Given the description of an element on the screen output the (x, y) to click on. 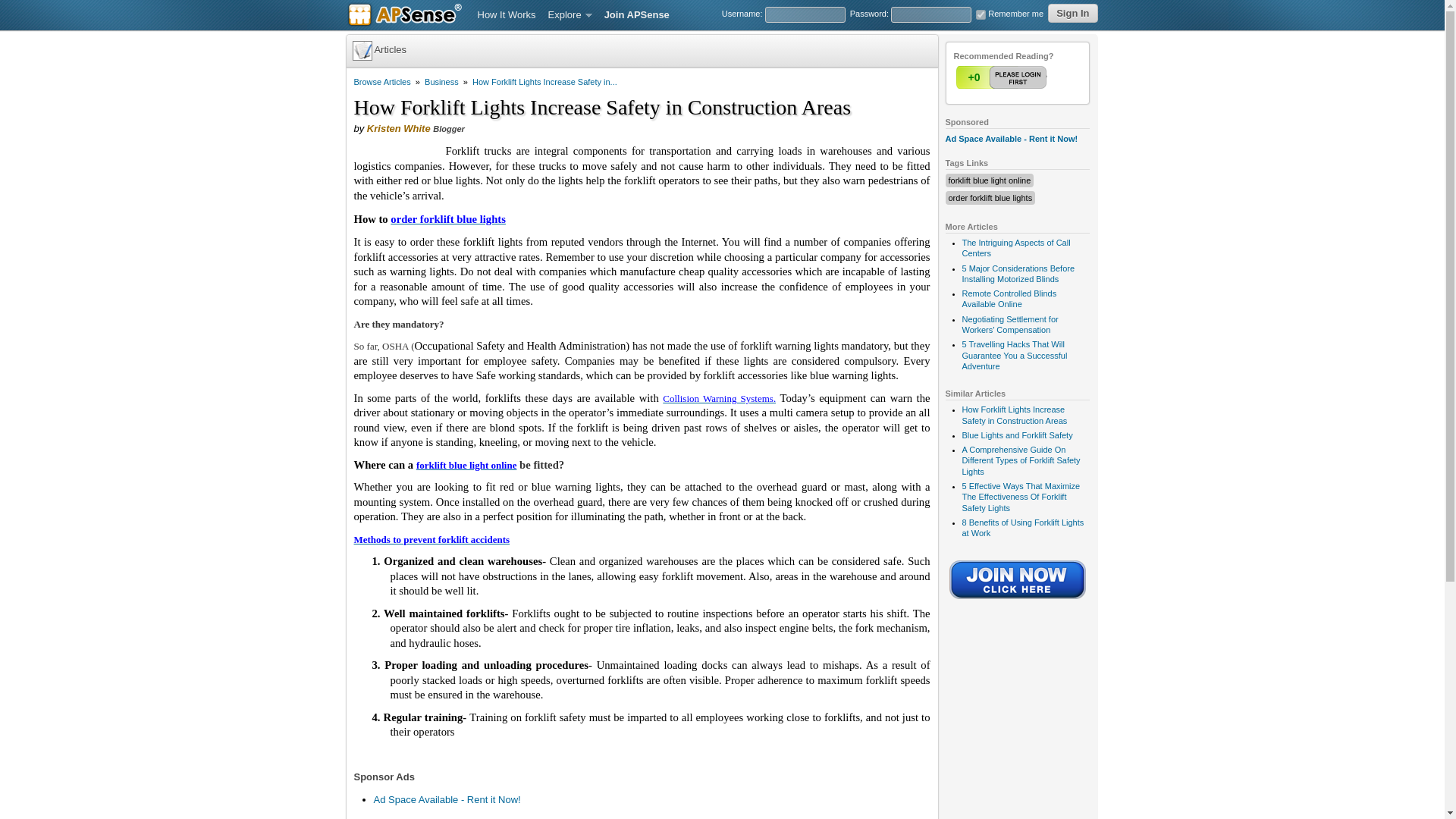
The Intriguing Aspects of Call Centers (1015, 247)
Collision Warning Systems. (719, 398)
order forklift blue lights (989, 197)
Votes Up (973, 77)
5 Major Considerations Before Installing Motorized Blinds (1017, 273)
Ad Space Available - Rent it Now! (445, 799)
5 Major Considerations Before Installing Motorized Blinds (1017, 273)
Blue Lights and Forklift Safety (1015, 434)
How Forklift Lights Increase Safety in... (544, 81)
Browse Articles (381, 81)
Join APSense Social Network (1017, 600)
Remote Controlled Blinds Available Online (1008, 298)
Ad Space Available - Rent it Now! (1010, 138)
8 Benefits of Using Forklift Lights at Work (1021, 527)
